Given the description of an element on the screen output the (x, y) to click on. 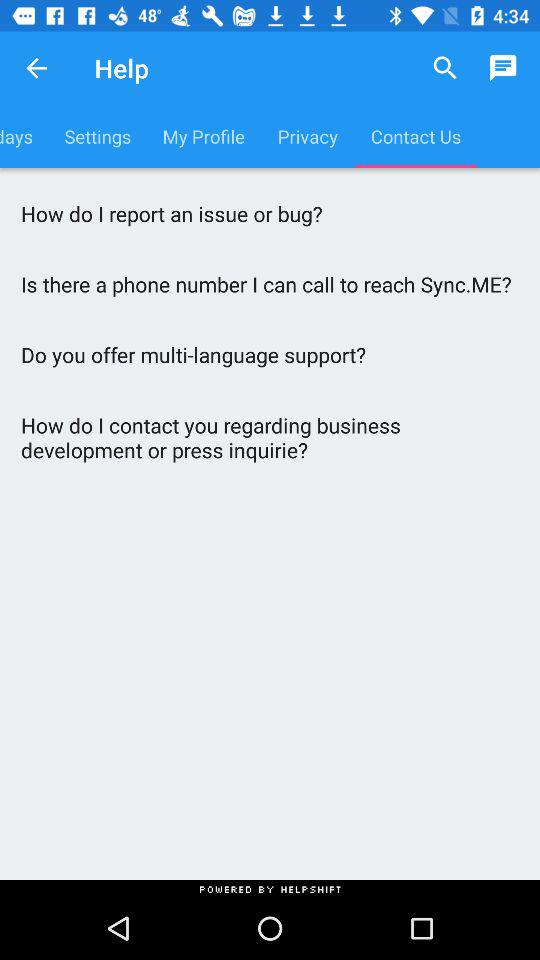
launch the icon above birthdays (36, 68)
